Given the description of an element on the screen output the (x, y) to click on. 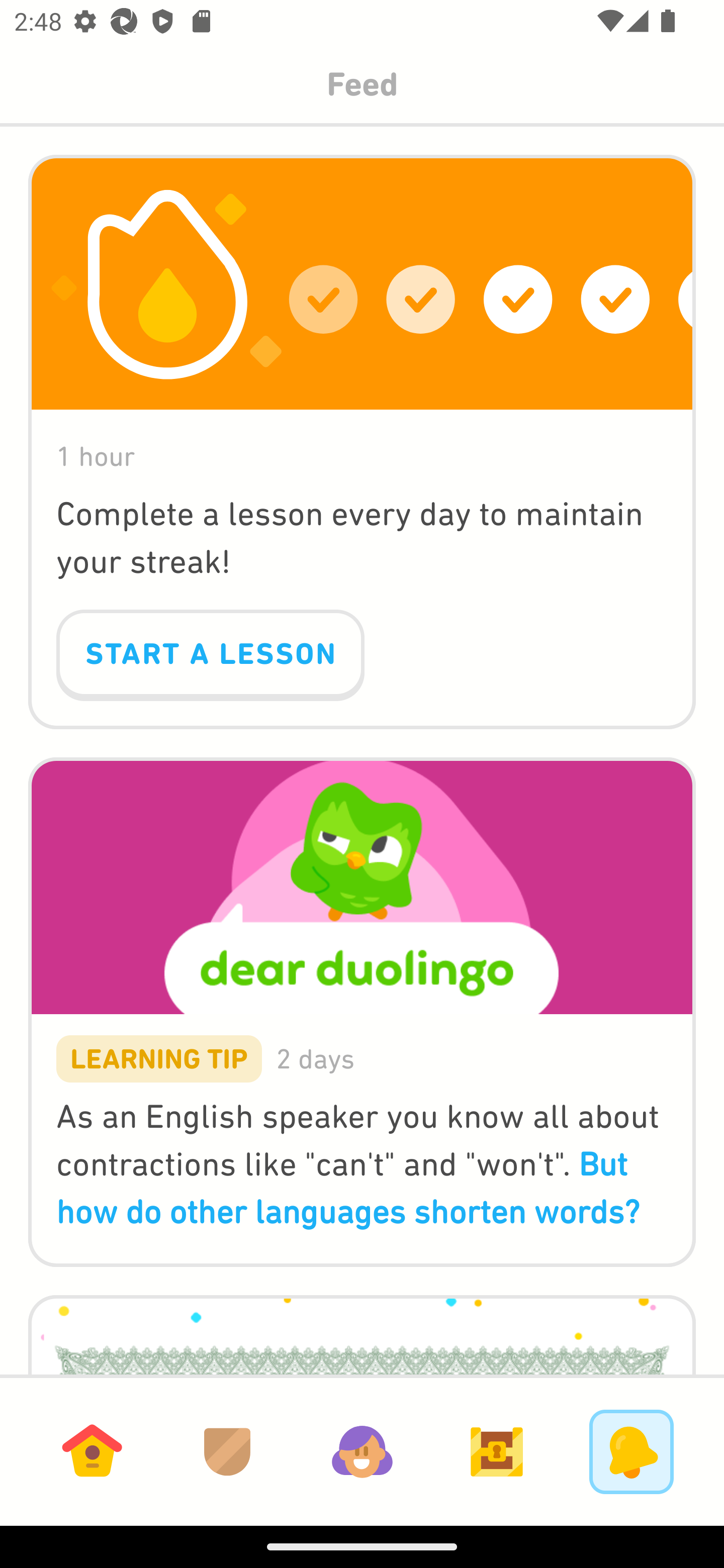
START A LESSON (210, 654)
Learn Tab (91, 1451)
Leagues Tab (227, 1451)
Profile Tab (361, 1451)
Goals Tab (496, 1451)
News Tab (631, 1451)
